Given the description of an element on the screen output the (x, y) to click on. 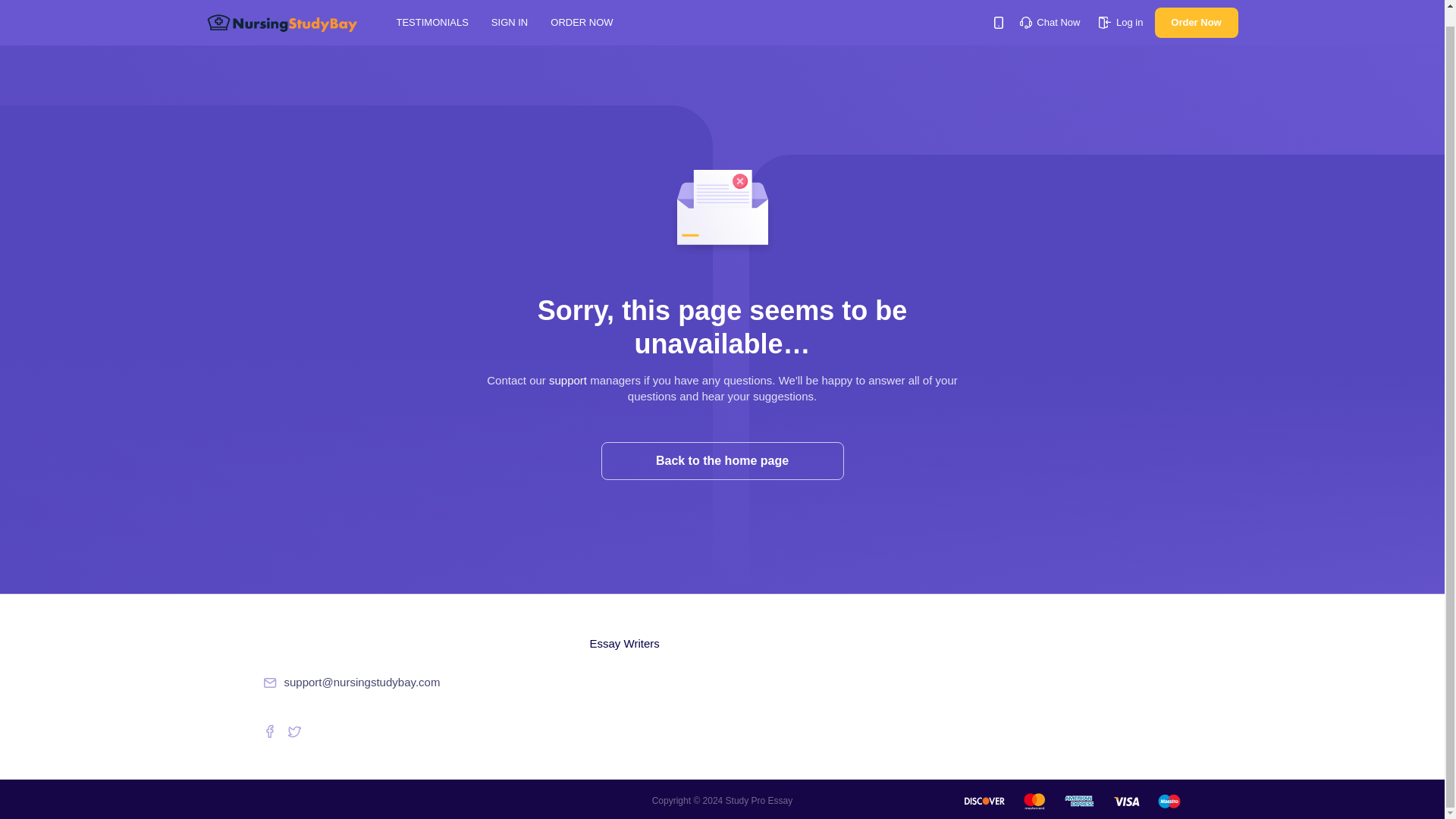
Essay Writers (624, 643)
Order Now (1195, 11)
Back to the home page (721, 460)
support (567, 379)
Chat Now (1050, 6)
SIGN IN (509, 6)
TESTIMONIALS (431, 6)
Log in (1120, 6)
ORDER NOW (581, 6)
